Given the description of an element on the screen output the (x, y) to click on. 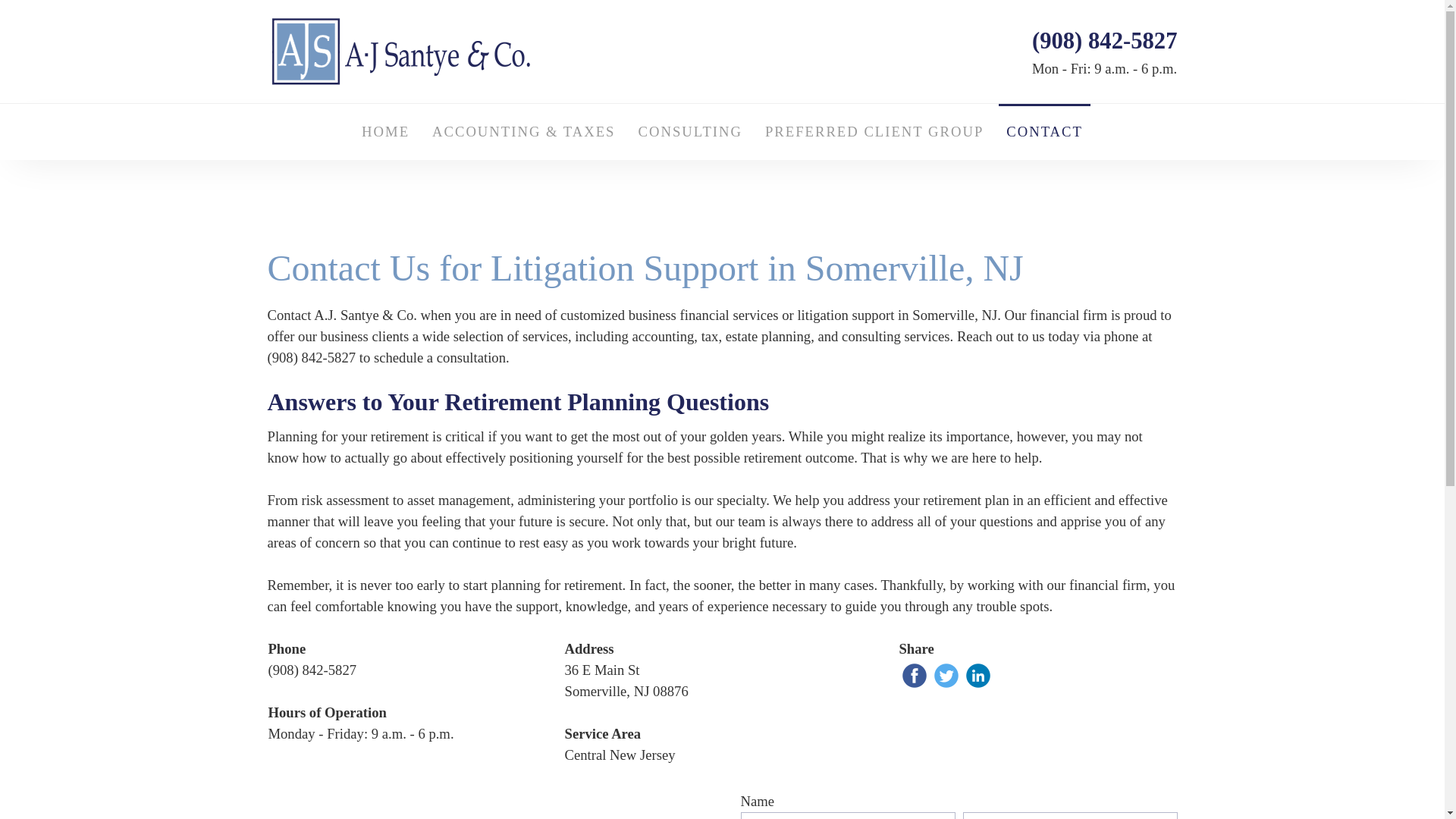
CONTACT (1044, 131)
CONSULTING (689, 131)
HOME (384, 131)
PREFERRED CLIENT GROUP (874, 131)
